Given the description of an element on the screen output the (x, y) to click on. 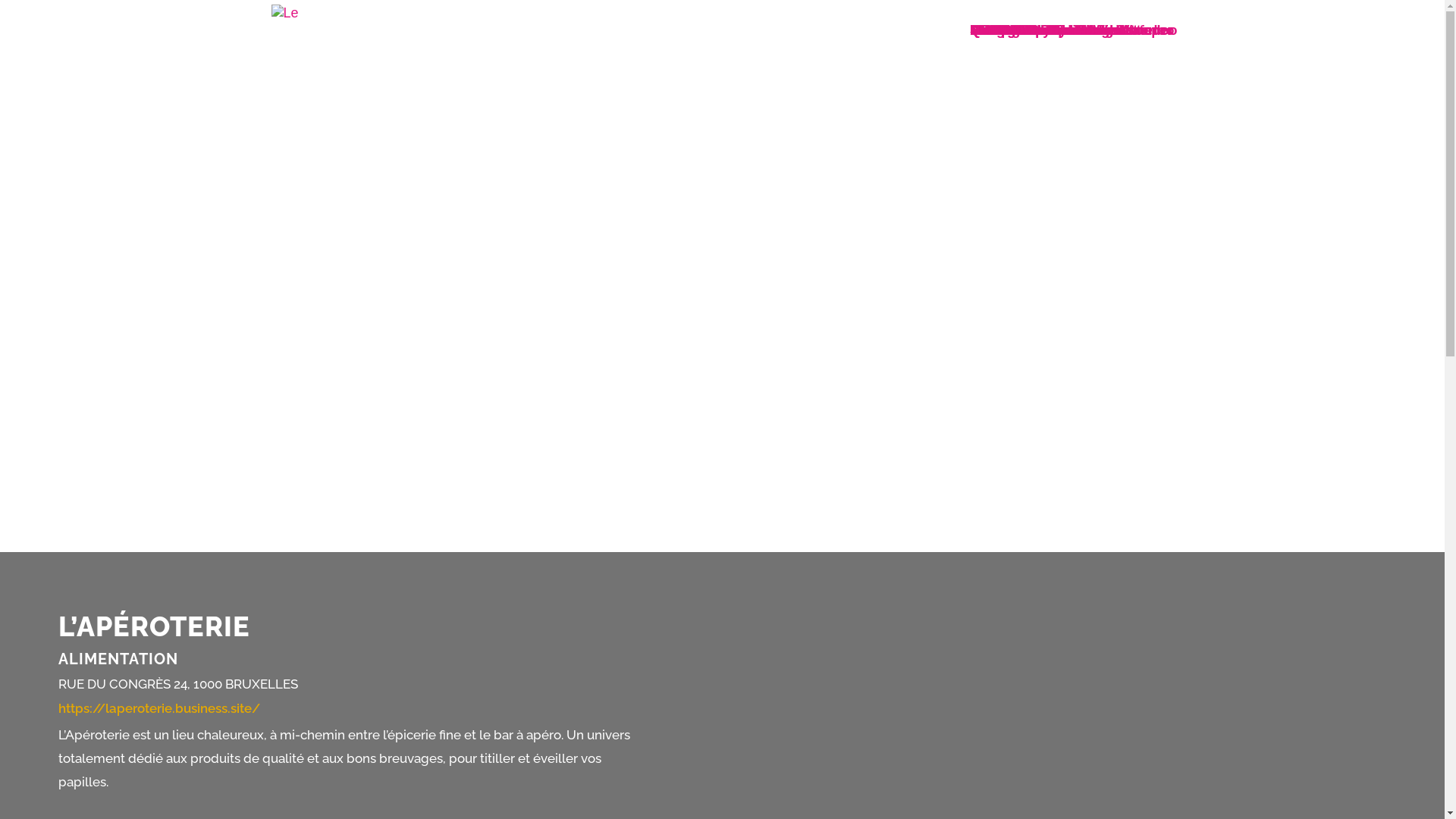
Notre-Dame-aux-Neiges Element type: text (1046, 29)
Labels du commerce Element type: text (1037, 29)
De Wand Element type: text (998, 29)
Local Friday actions Element type: text (1035, 29)
Stalingrad - Midi - Lemonnier Element type: text (1063, 29)
Parking Element type: text (994, 29)
Sainte-Catherine - Vismet Element type: text (1052, 29)
Sablon Element type: text (992, 29)
Neder-Over-Heembeek Element type: text (1043, 29)
Boulevards du centre Element type: text (1039, 29)
https://laperoterie.business.site/ Element type: text (159, 707)
Rue Neuve et alentours Element type: text (1045, 29)
Dansaert Element type: text (998, 29)
NL Element type: text (978, 29)
OPTION-B Element type: text (1002, 29)
Laeken - De Wand Element type: text (1027, 29)
BXL-Boncadeau Element type: text (1022, 29)
Rue de Flandre Element type: text (1018, 29)
Saint-Jacques Element type: text (1015, 29)
Louise - Bailli Element type: text (1013, 29)
Marolles Element type: text (997, 29)
Rue de Namur - Bd de Waterloo Element type: text (1071, 29)
Accueil Element type: text (993, 29)
La Cambre Element type: text (1004, 29)
Quartiers Element type: text (999, 29)
Bockstael Element type: text (1001, 29)
Grand-Place Element type: text (1009, 29)
